Given the description of an element on the screen output the (x, y) to click on. 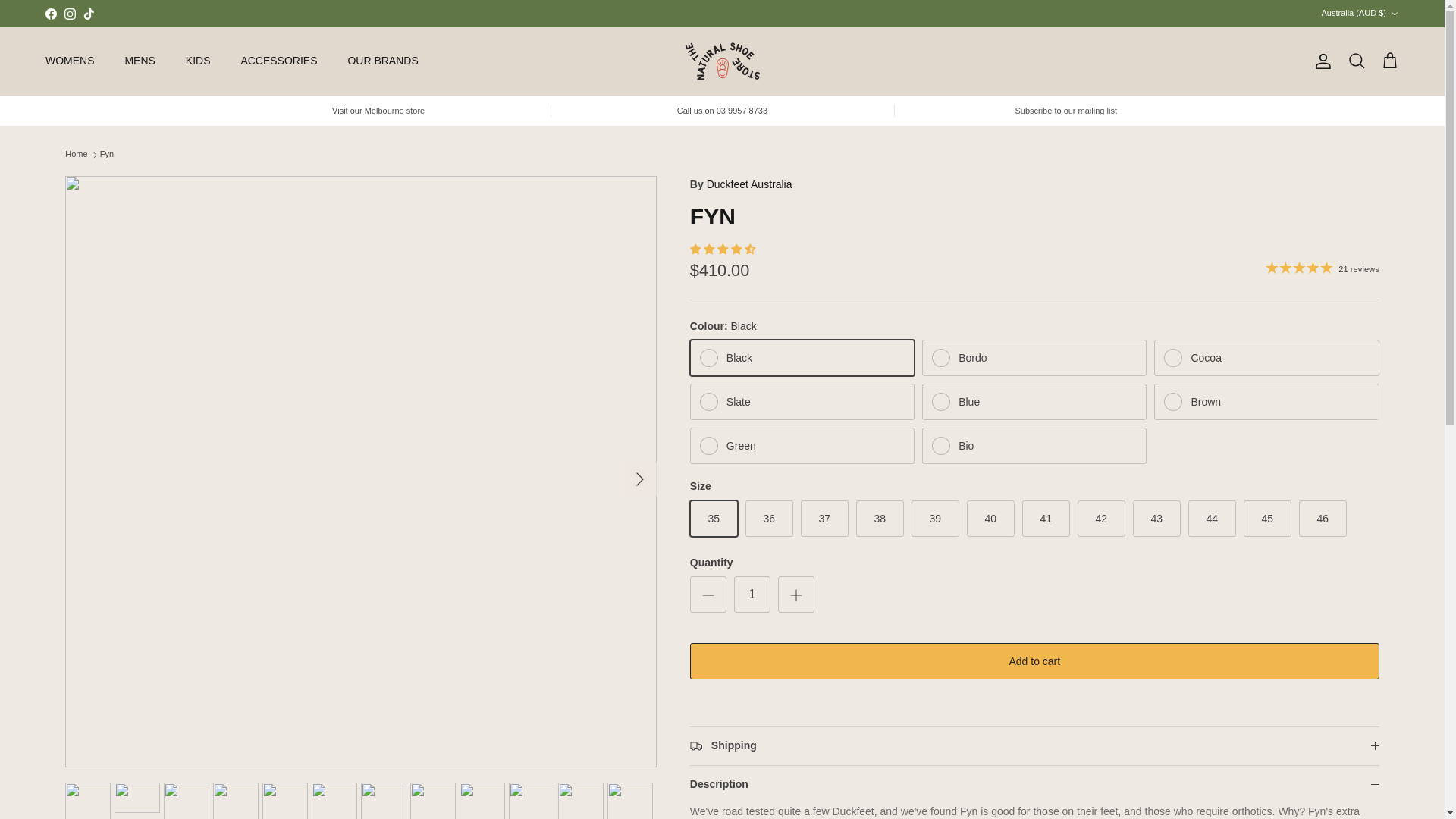
Search (1356, 61)
ACCESSORIES (278, 60)
Instagram (69, 12)
The Natural Shoe Store on TikTok (88, 12)
The Natural Shoe Store (722, 61)
1 (751, 594)
Account (1319, 61)
Facebook (50, 12)
OUR BRANDS (381, 60)
Cart (1389, 61)
TikTok (88, 12)
MENS (139, 60)
The Natural Shoe Store on Instagram (69, 12)
WOMENS (69, 60)
KIDS (197, 60)
